Given the description of an element on the screen output the (x, y) to click on. 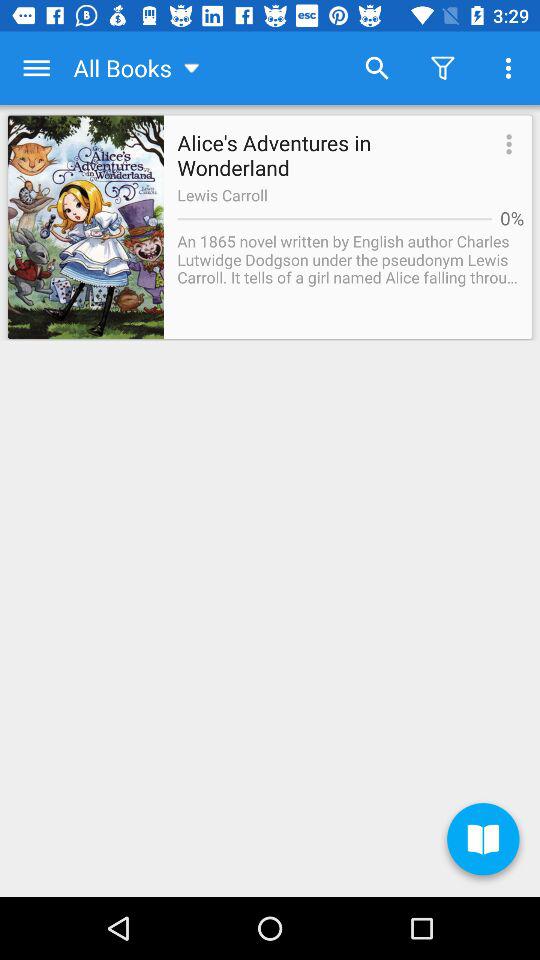
launch the item at the bottom right corner (483, 842)
